Given the description of an element on the screen output the (x, y) to click on. 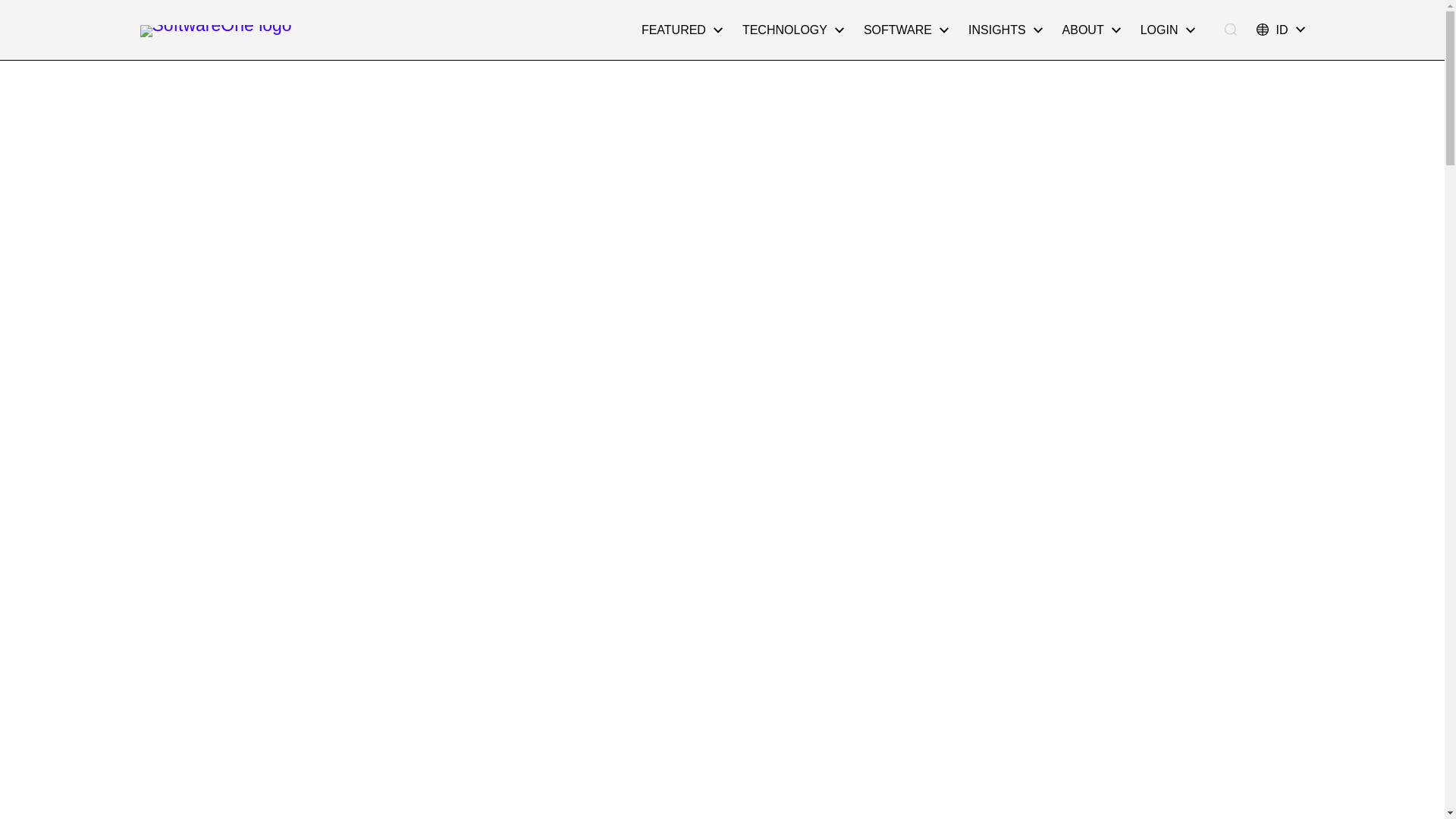
ABOUT (1091, 30)
INSIGHTS (1005, 30)
SOFTWARE (905, 30)
TECHNOLOGY (792, 30)
LOGIN (1168, 30)
FEATURED (681, 30)
